Given the description of an element on the screen output the (x, y) to click on. 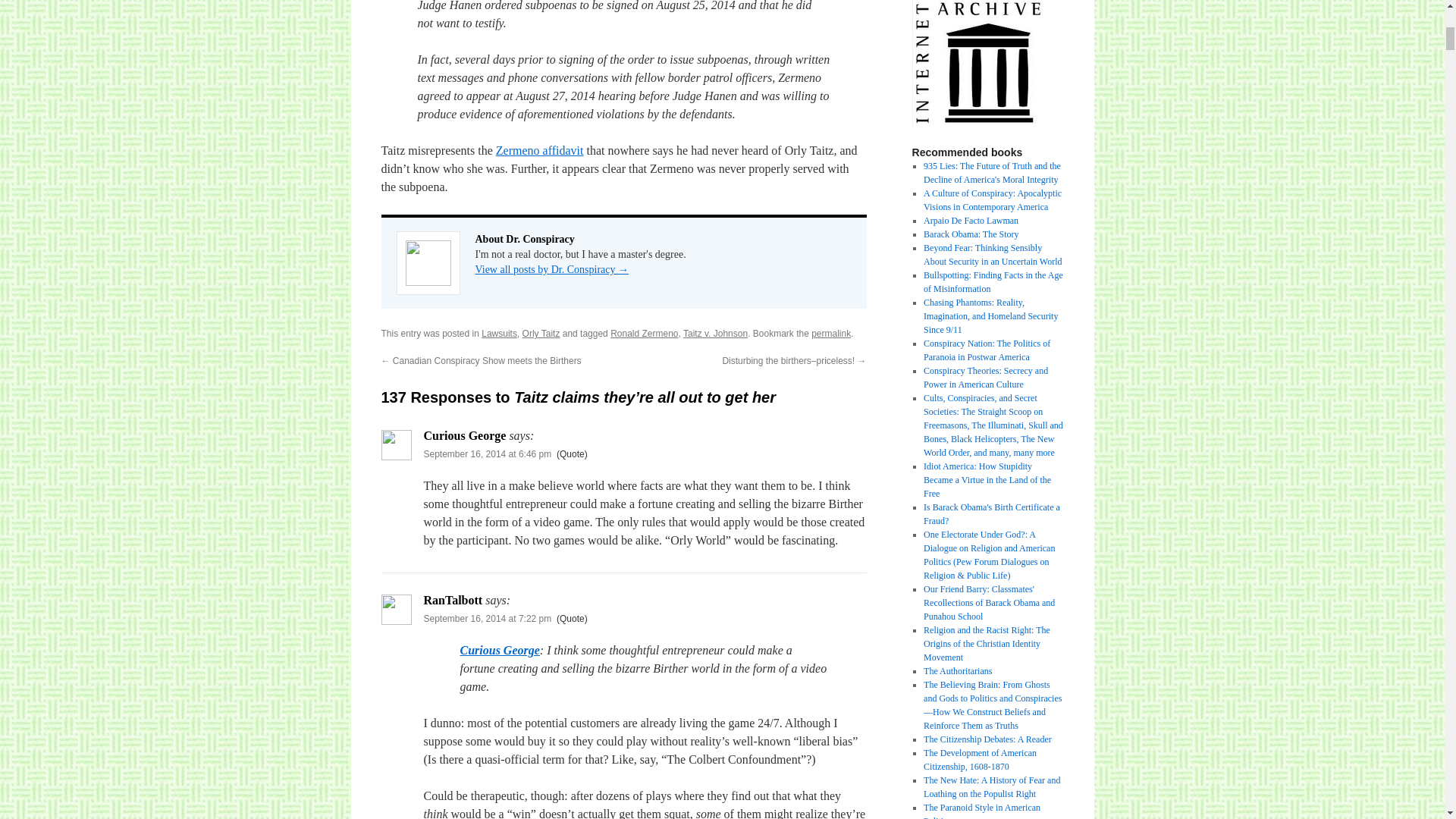
September 16, 2014 at 6:46 pm (487, 453)
Click here or select text to quote comment (572, 453)
Zermeno affidavit (539, 150)
September 16, 2014 at 7:22 pm (487, 618)
Lawsuits (498, 333)
Taitz v. Johnson (715, 333)
Click here or select text to quote comment (572, 618)
Ronald Zermeno (644, 333)
Orly Taitz (541, 333)
permalink (830, 333)
